Given the description of an element on the screen output the (x, y) to click on. 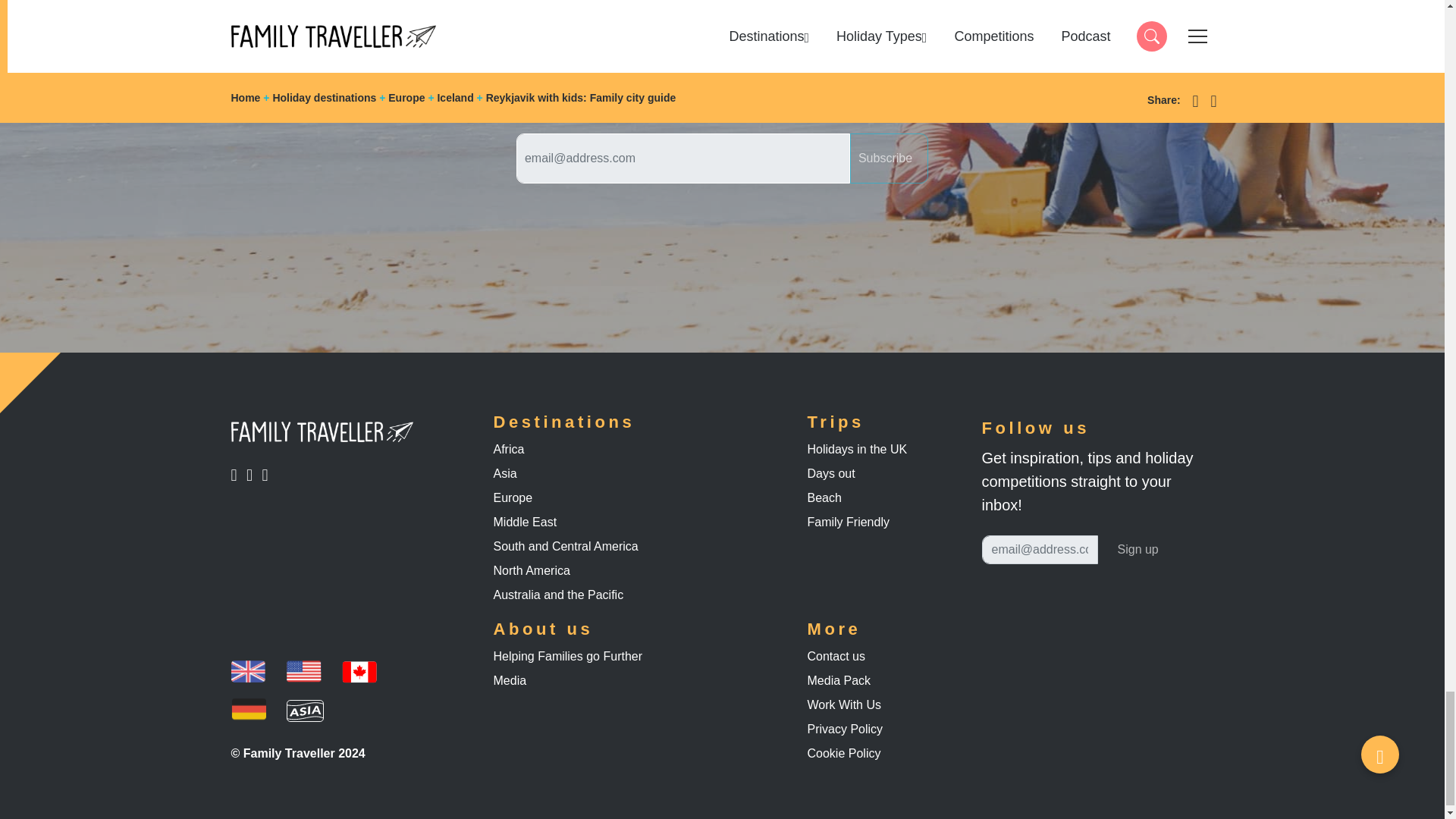
Visit Family Traveller Canada (359, 671)
Visit Family Traveller USA (268, 473)
Sign up (303, 671)
Subscribe (1137, 549)
Visit Family Traveller UK (238, 473)
Visit Family Traveller Asia (889, 158)
Visit Family Traveller DE (254, 473)
